Given the description of an element on the screen output the (x, y) to click on. 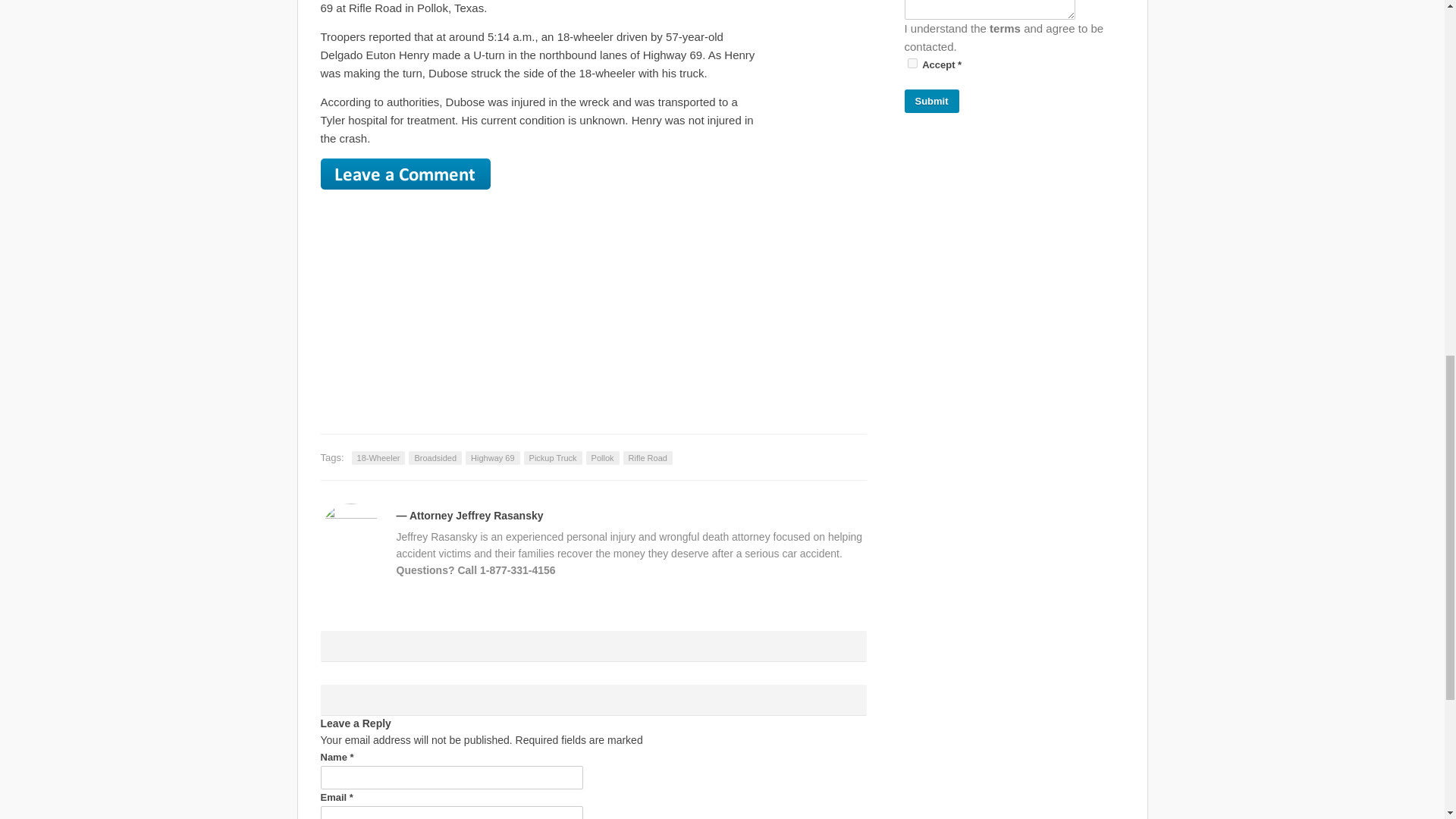
terms (1005, 28)
Submit (931, 101)
Rifle Road (647, 458)
Pollok (603, 458)
18-Wheeler (379, 458)
3201 (912, 62)
Highway 69 (492, 458)
Broadsided (435, 458)
Pickup Truck (553, 458)
